Given the description of an element on the screen output the (x, y) to click on. 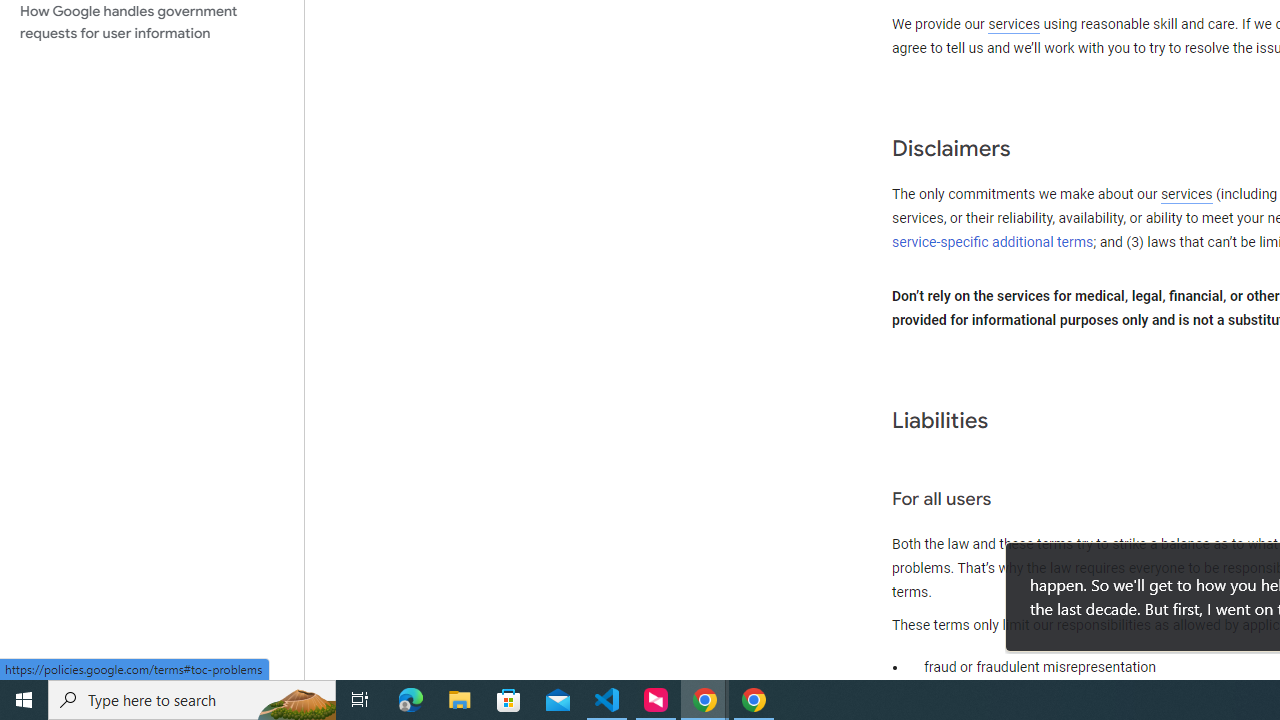
service-specific additional terms (993, 242)
services (1186, 195)
